Given the description of an element on the screen output the (x, y) to click on. 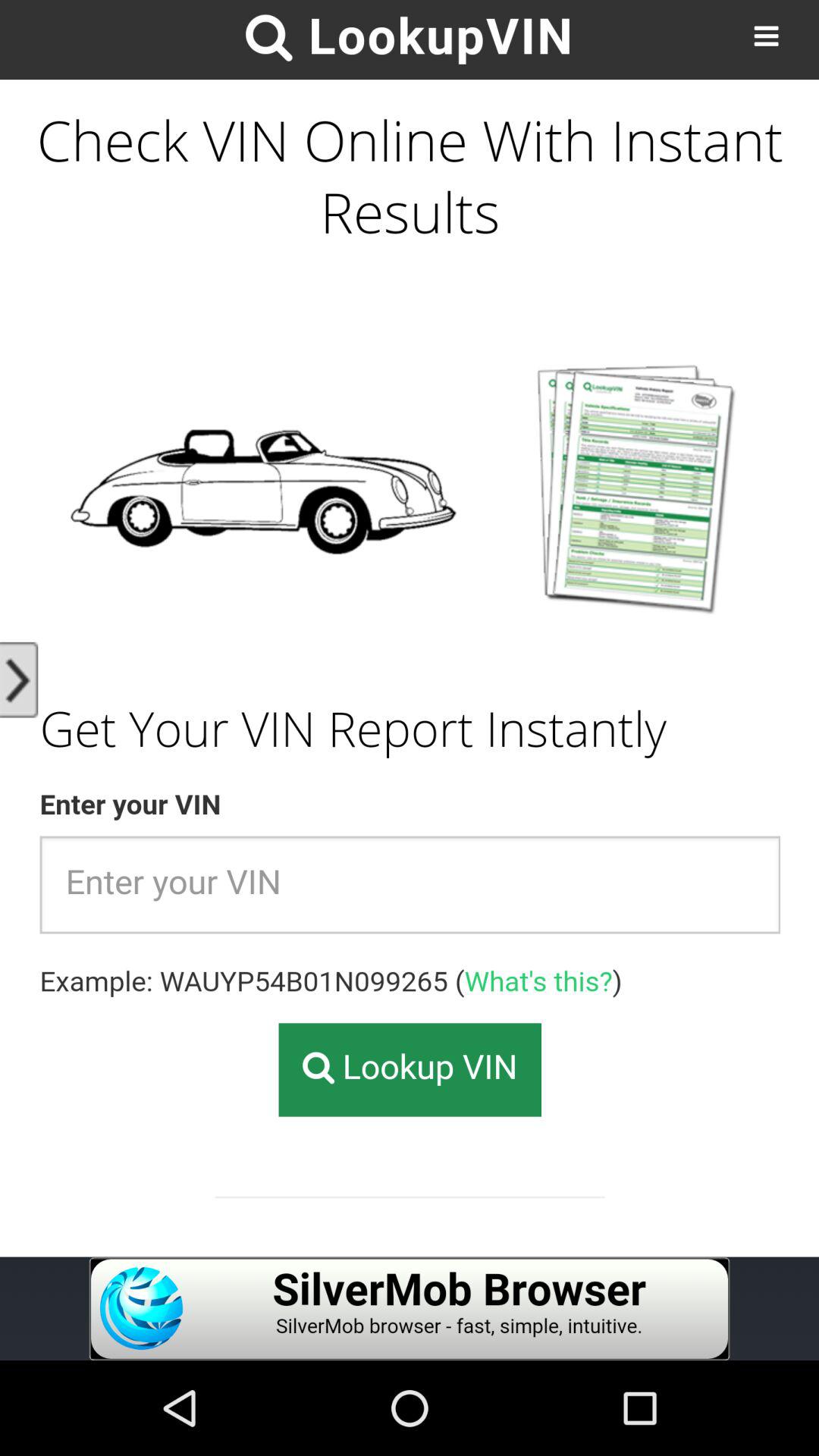
view silvermob browser page (409, 1308)
